Given the description of an element on the screen output the (x, y) to click on. 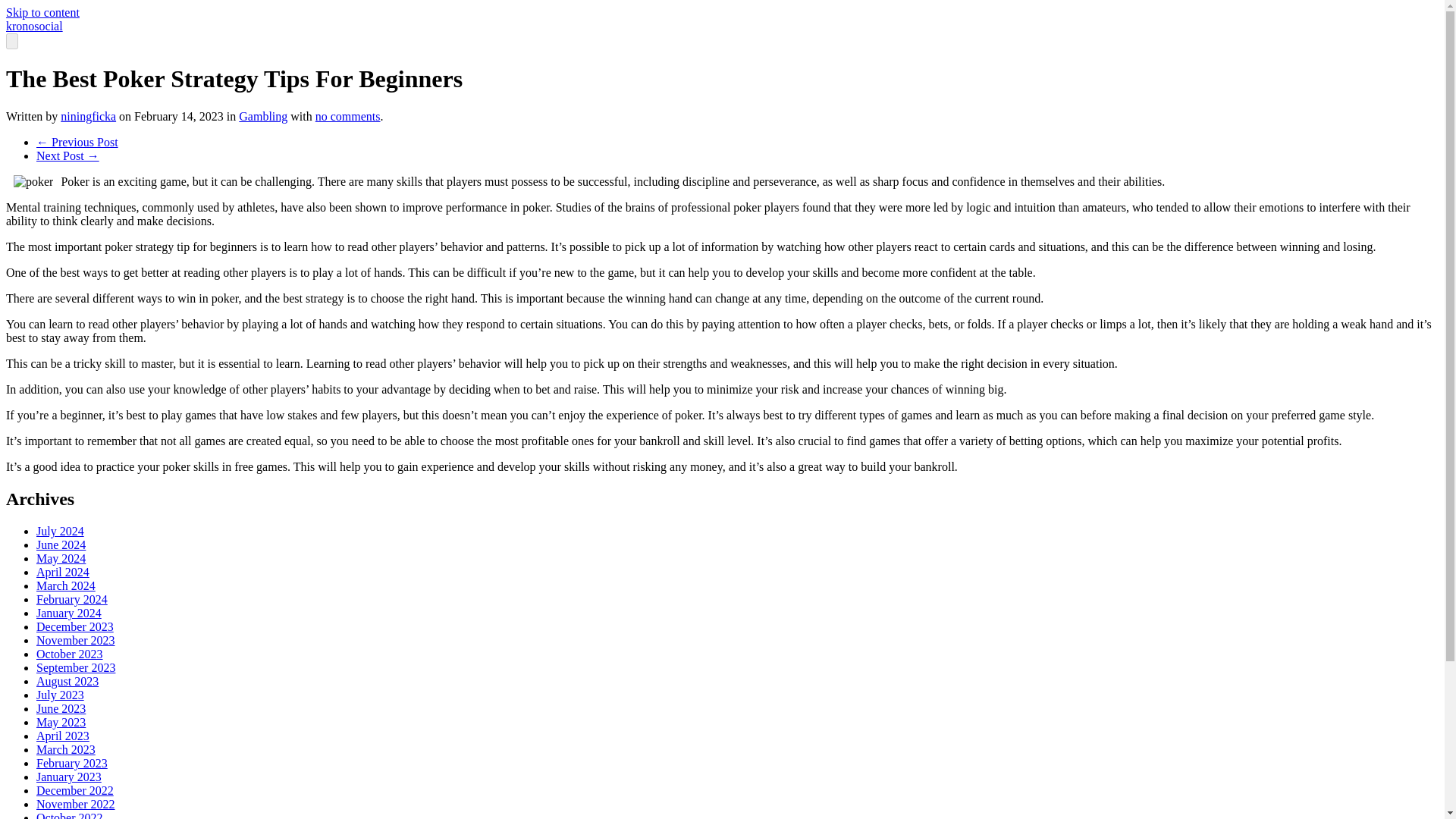
April 2023 (62, 735)
July 2023 (60, 694)
August 2023 (67, 680)
February 2024 (71, 599)
October 2022 (69, 815)
September 2023 (75, 667)
March 2023 (66, 748)
no comments (347, 115)
November 2023 (75, 640)
July 2024 (60, 530)
February 2023 (71, 762)
January 2024 (68, 612)
November 2022 (75, 803)
May 2023 (60, 721)
Skip to content (42, 11)
